Given the description of an element on the screen output the (x, y) to click on. 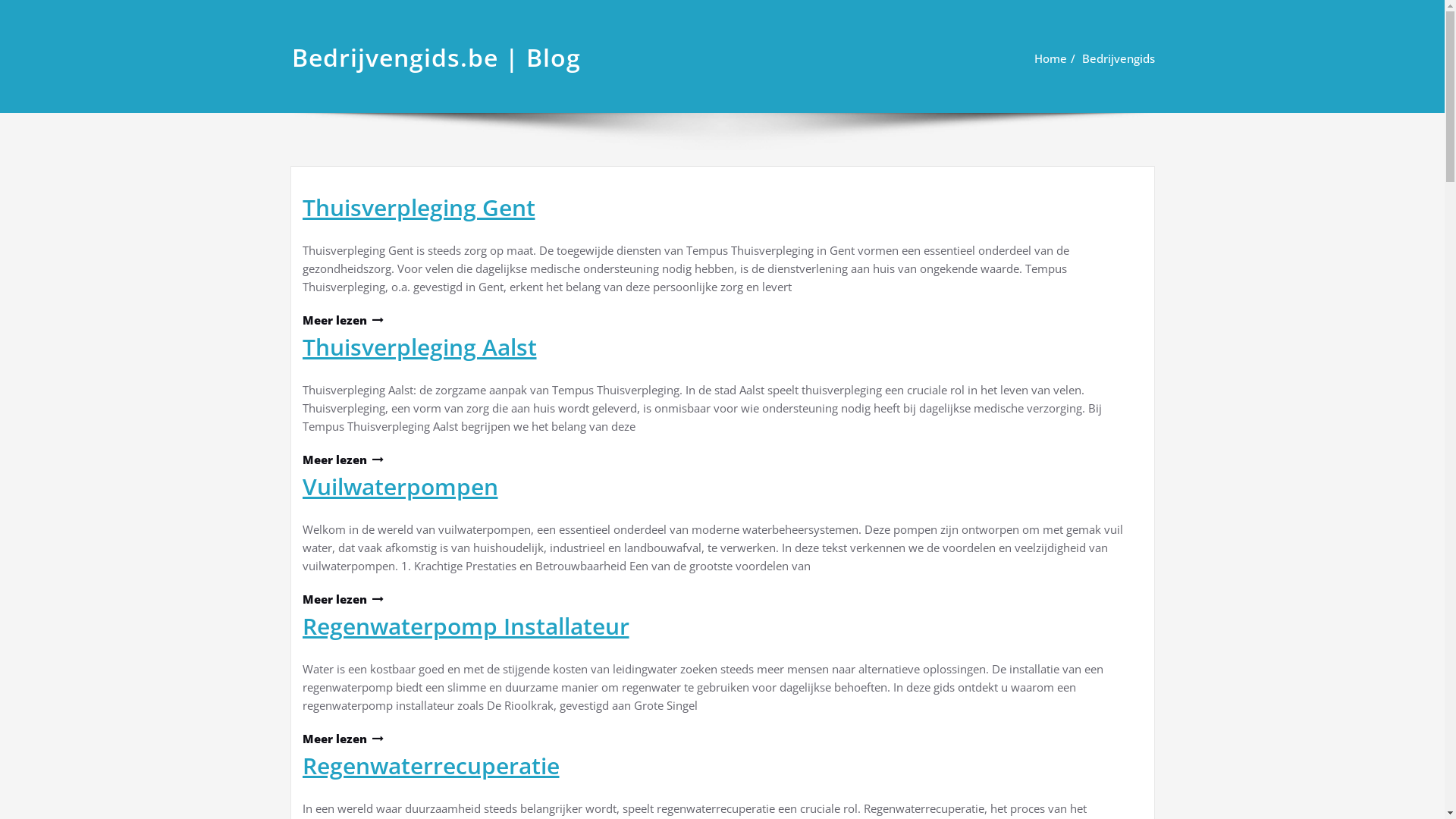
Bedrijvengids Element type: text (1117, 57)
Regenwaterpomp Installateur Element type: text (464, 625)
Meer lezen Element type: text (341, 319)
Vuilwaterpompen Element type: text (399, 486)
Thuisverpleging Aalst Element type: text (418, 346)
Meer lezen Element type: text (341, 598)
Regenwaterrecuperatie Element type: text (429, 765)
Meer lezen Element type: text (341, 738)
Home Element type: text (1050, 57)
Thuisverpleging Gent Element type: text (417, 206)
Meer lezen Element type: text (341, 459)
